Given the description of an element on the screen output the (x, y) to click on. 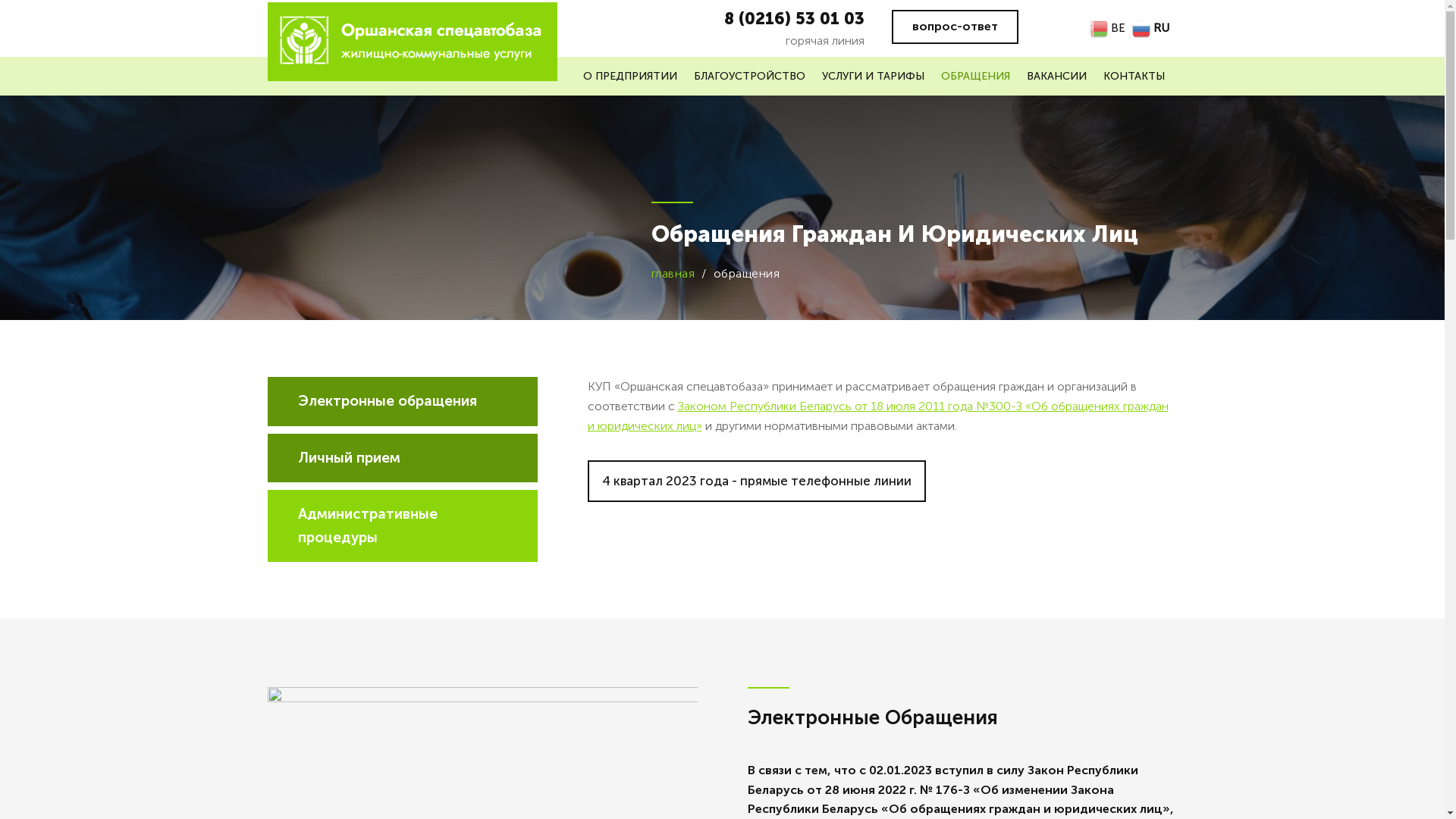
logo Element type: hover (411, 41)
8 (0216) 53 01 03 Element type: text (794, 18)
RU Element type: text (1152, 27)
BE Element type: text (1109, 27)
